Given the description of an element on the screen output the (x, y) to click on. 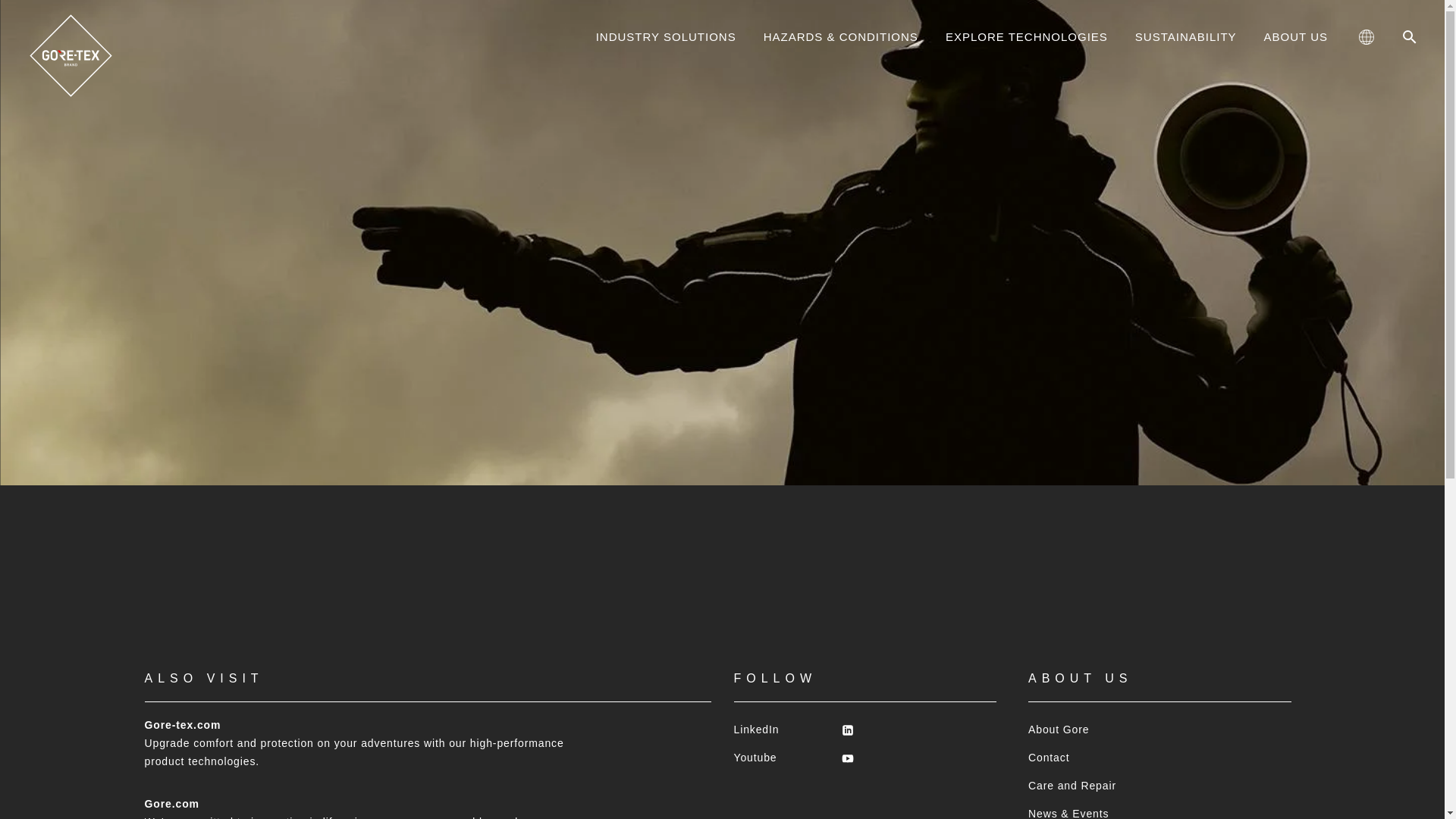
EXPLORE TECHNOLOGIES (1026, 36)
INDUSTRY SOLUTIONS (665, 36)
SUSTAINABILITY (1185, 36)
